Given the description of an element on the screen output the (x, y) to click on. 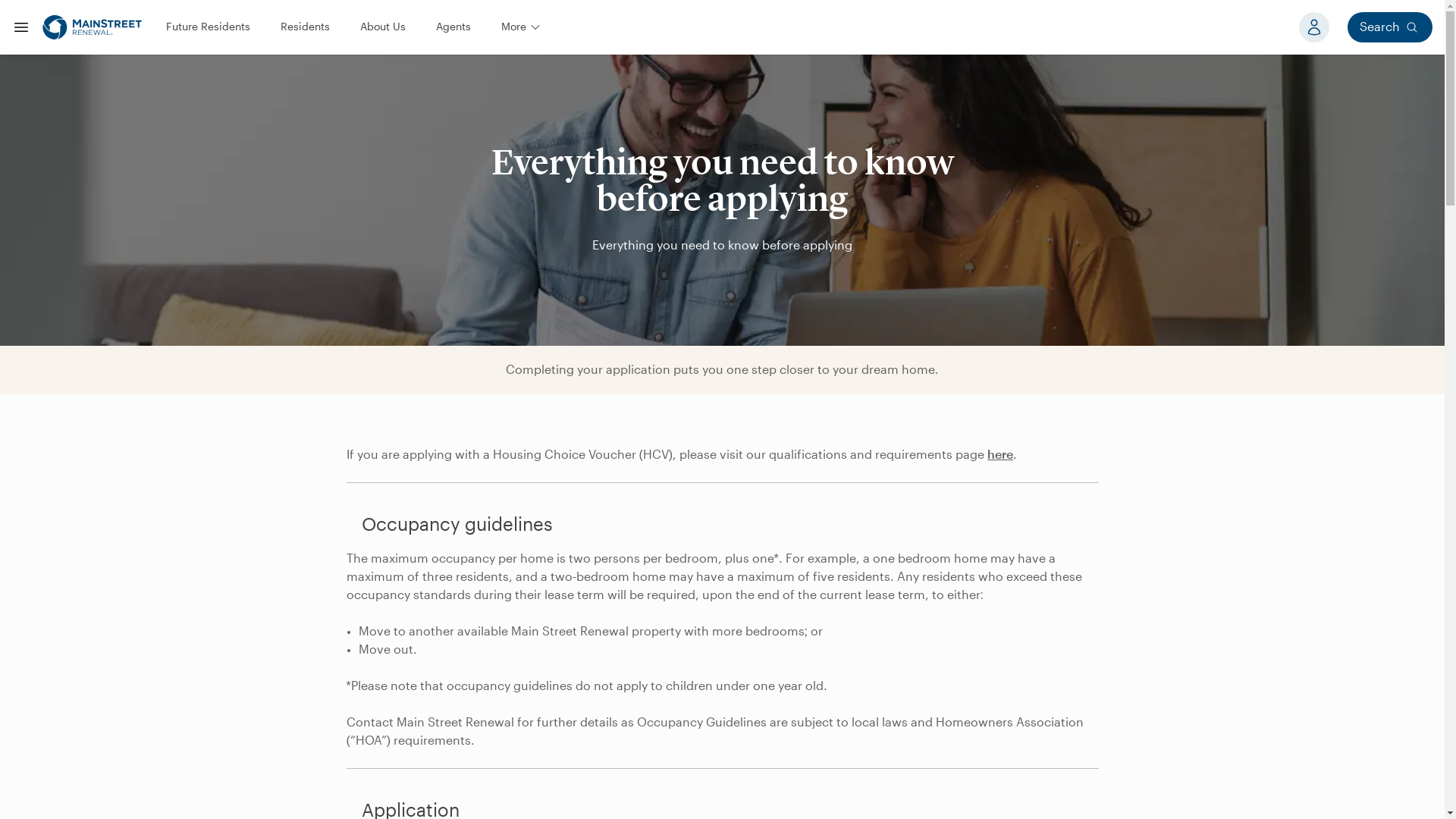
More (521, 26)
Search (1390, 27)
Residents (304, 27)
Future Residents (208, 27)
Menu (20, 27)
Search (1390, 27)
Logo (91, 27)
About Us (382, 27)
Agents (453, 27)
here (1000, 454)
